Given the description of an element on the screen output the (x, y) to click on. 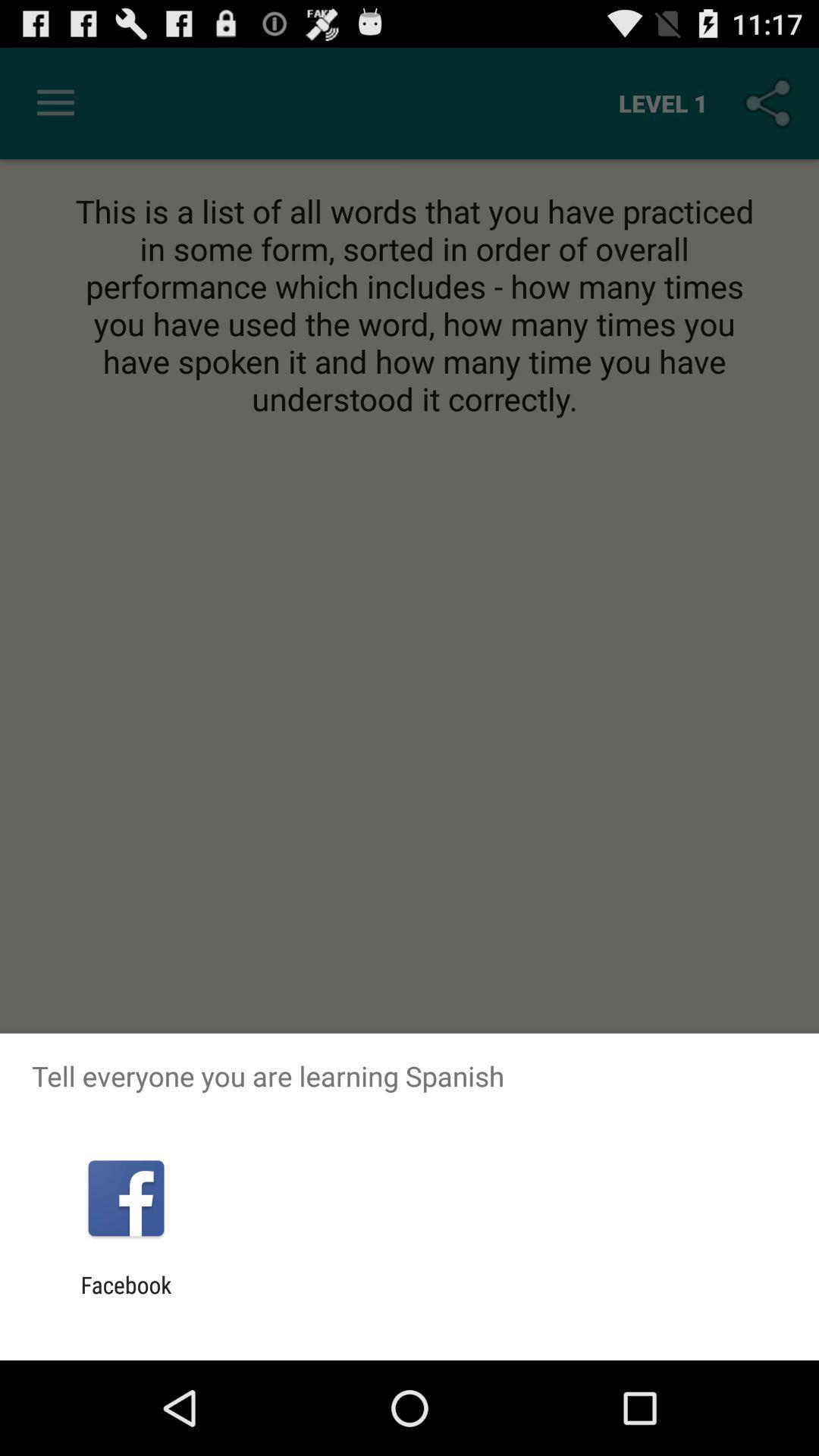
select item above the facebook app (126, 1198)
